Given the description of an element on the screen output the (x, y) to click on. 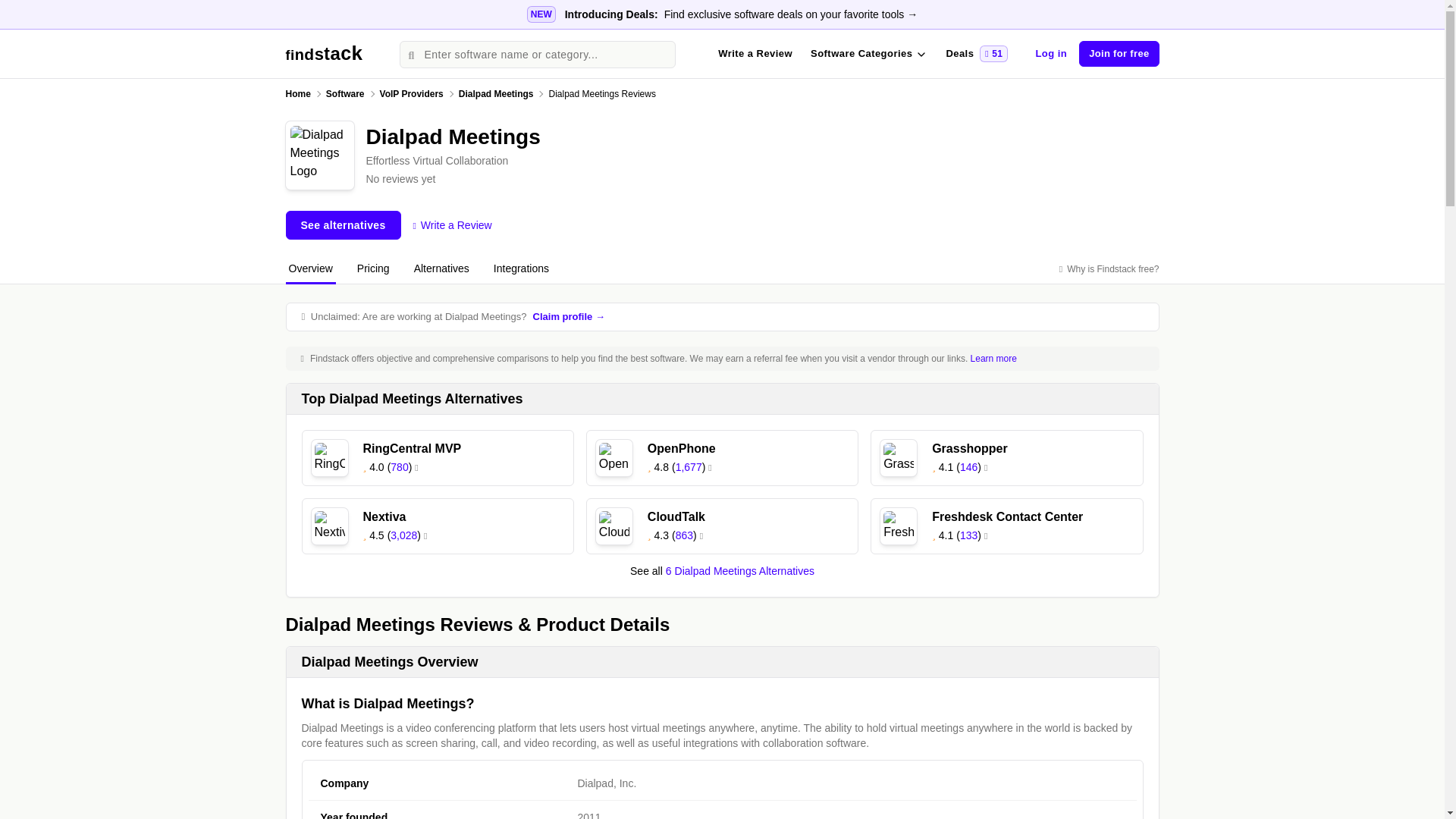
Dialpad Meetings Reviews (323, 54)
Software (601, 93)
Grasshopper (345, 93)
Dialpad Meetings (898, 458)
Nextiva (319, 155)
RingCentral MVP (328, 526)
Freshdesk Contact Center (328, 458)
Submit (898, 526)
Dialpad Meetings (22, 10)
